Given the description of an element on the screen output the (x, y) to click on. 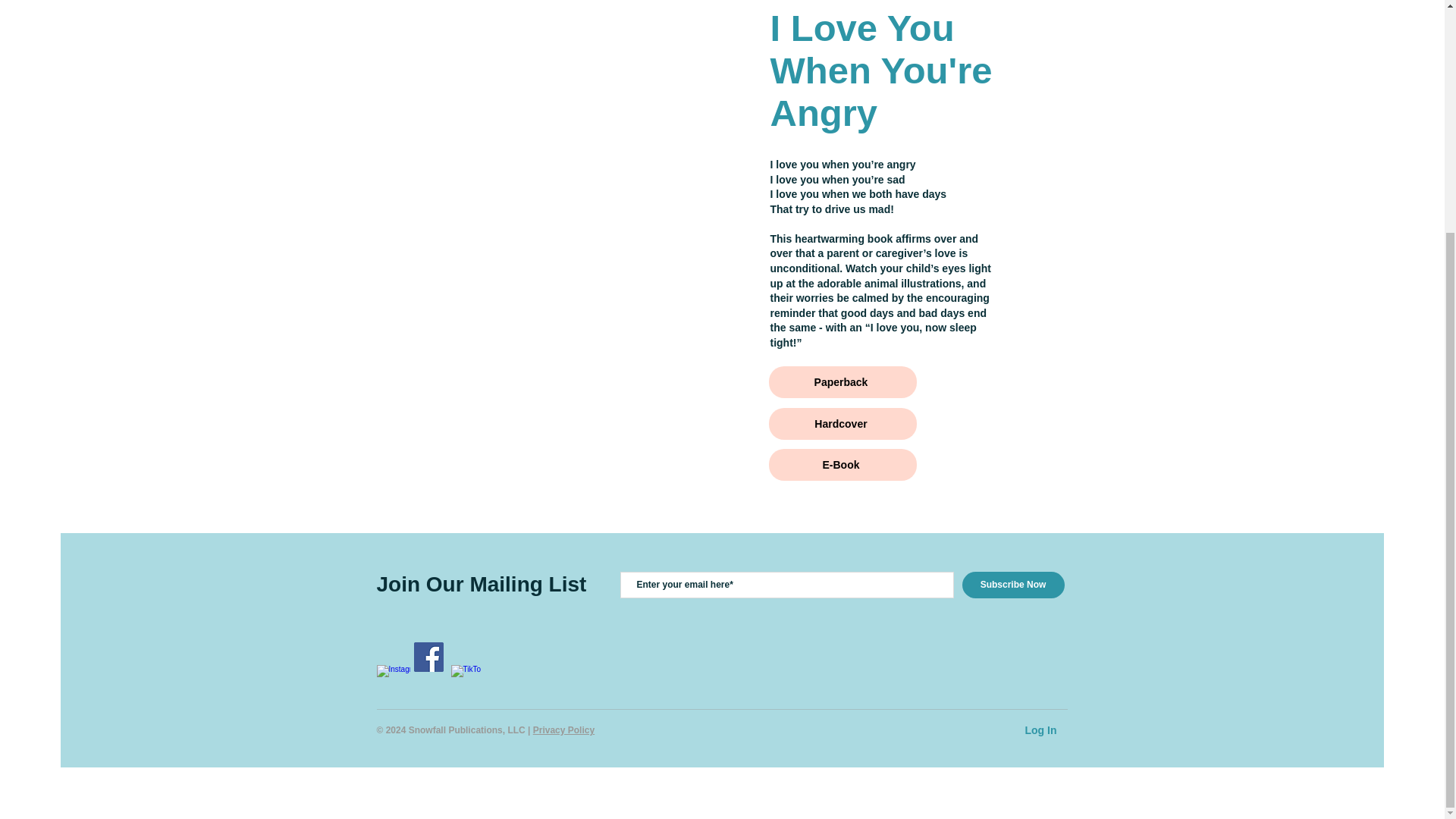
Hardcover (842, 423)
Privacy Policy (563, 729)
Subscribe Now (1012, 584)
Log In (1040, 730)
Paperback (842, 382)
E-Book (842, 464)
